Given the description of an element on the screen output the (x, y) to click on. 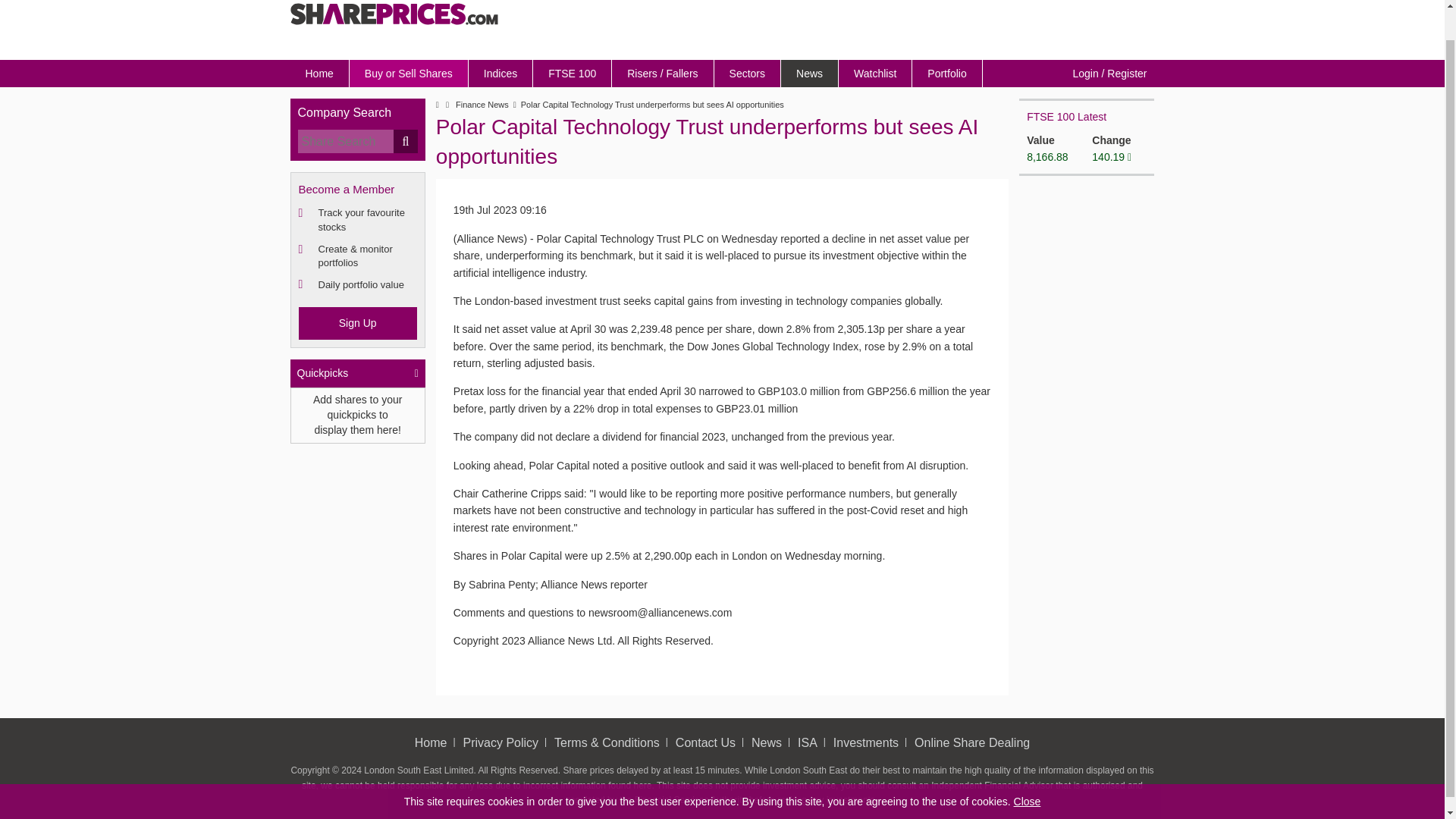
Indices (500, 72)
Online Share Dealing (971, 742)
ISA (806, 742)
Close (1027, 770)
Buy or Sell Shares (408, 72)
Contact Us (705, 742)
Watchlist (875, 72)
Privacy Policy (500, 742)
Home (430, 742)
Portfolio (946, 72)
Investments (865, 742)
Sign Up (357, 323)
News (766, 742)
Finance News (481, 105)
FTSE 100 (571, 72)
